Given the description of an element on the screen output the (x, y) to click on. 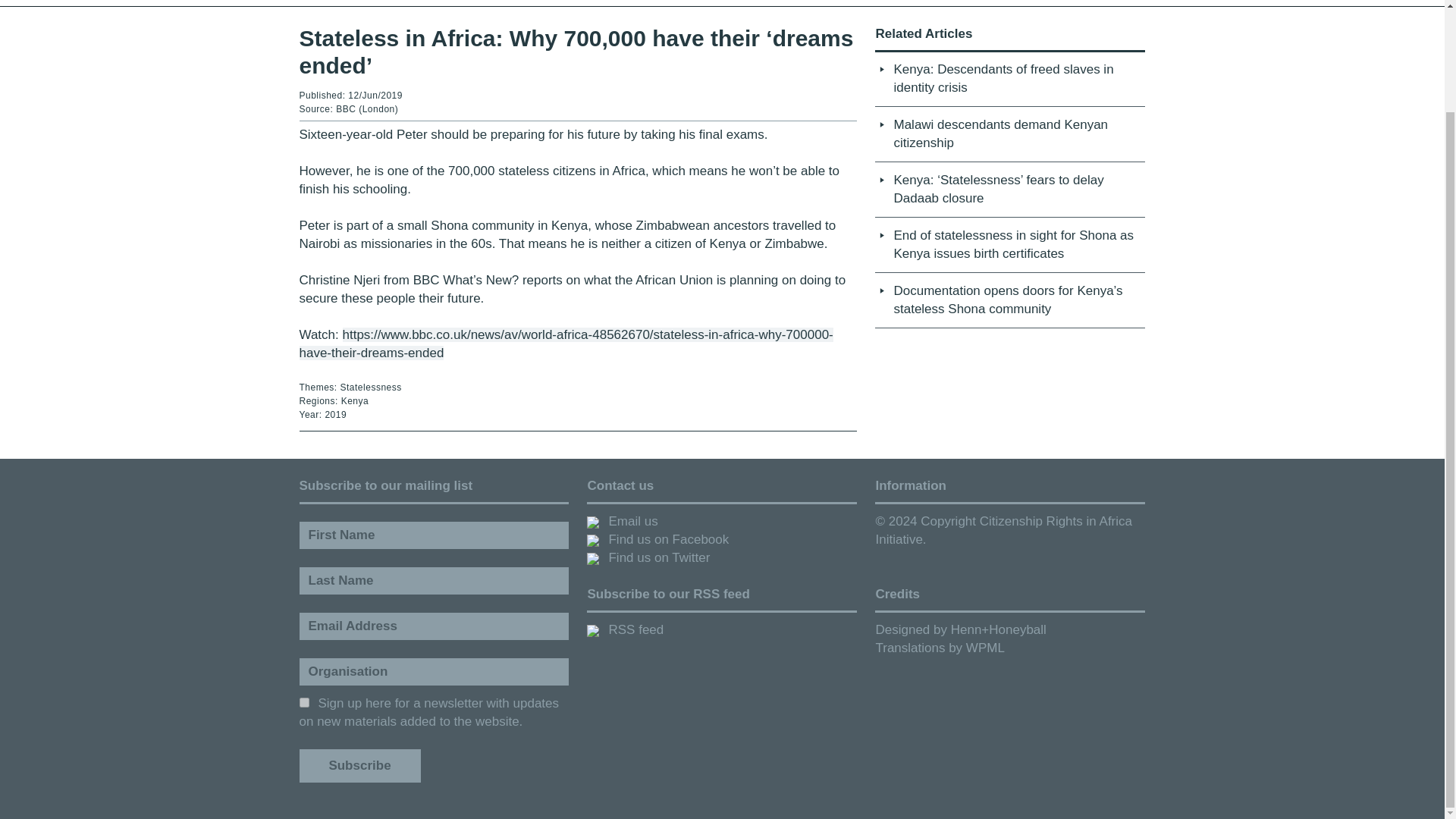
Regions and Countries (560, 2)
1 (303, 702)
WPML (985, 647)
Themes (435, 2)
Subscribe (359, 765)
Home (315, 2)
English (1069, 2)
About (368, 2)
